Given the description of an element on the screen output the (x, y) to click on. 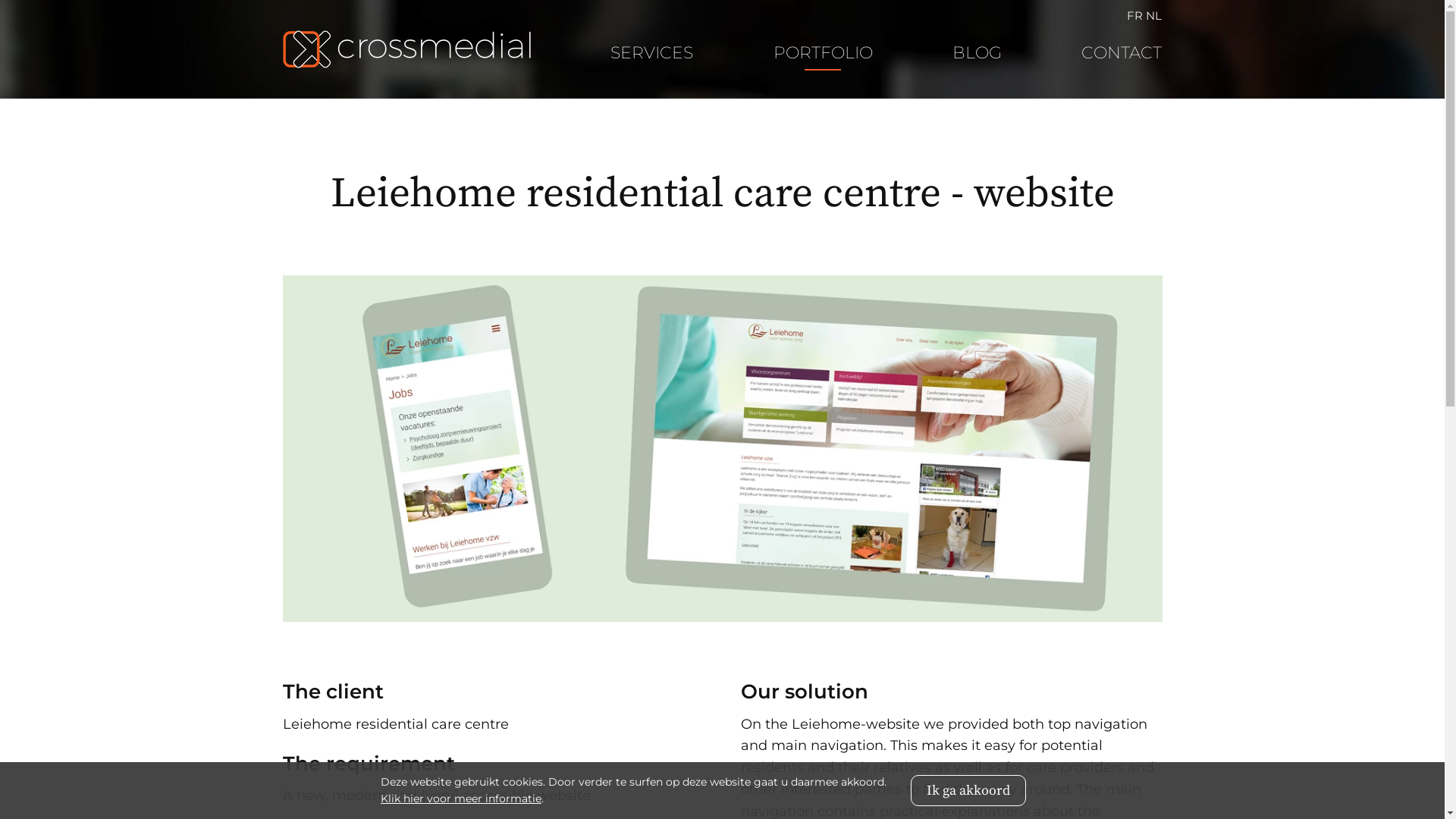
BLOG Element type: text (976, 53)
NL Element type: text (1153, 15)
CONTACT Element type: text (1121, 53)
FR Element type: text (1134, 15)
PORTFOLIO Element type: text (822, 53)
SERVICES Element type: text (651, 53)
Klik hier voor meer informatie Element type: text (460, 797)
Ik ga akkoord Element type: text (968, 790)
